Given the description of an element on the screen output the (x, y) to click on. 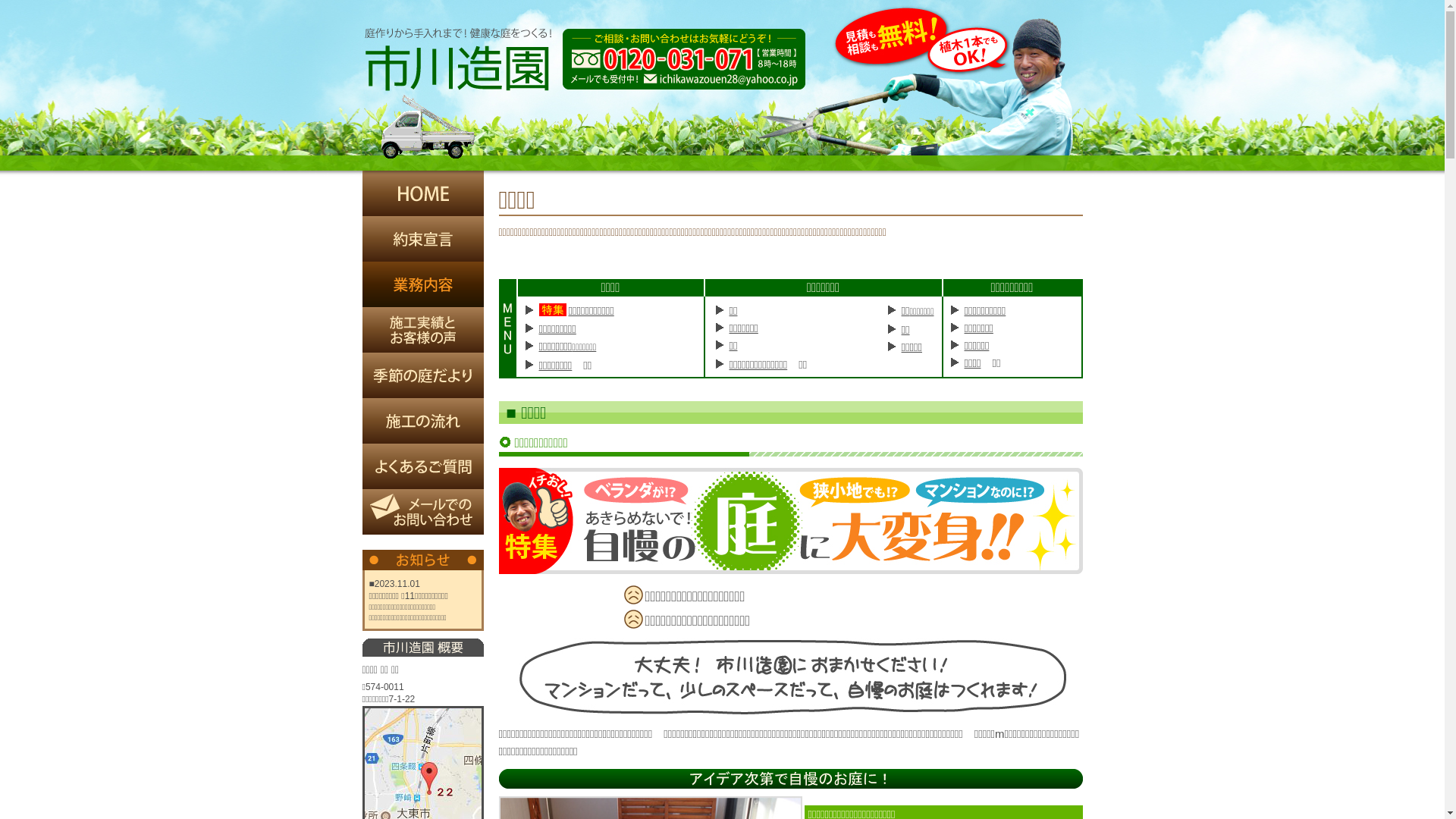
HOME Element type: text (422, 193)
